Given the description of an element on the screen output the (x, y) to click on. 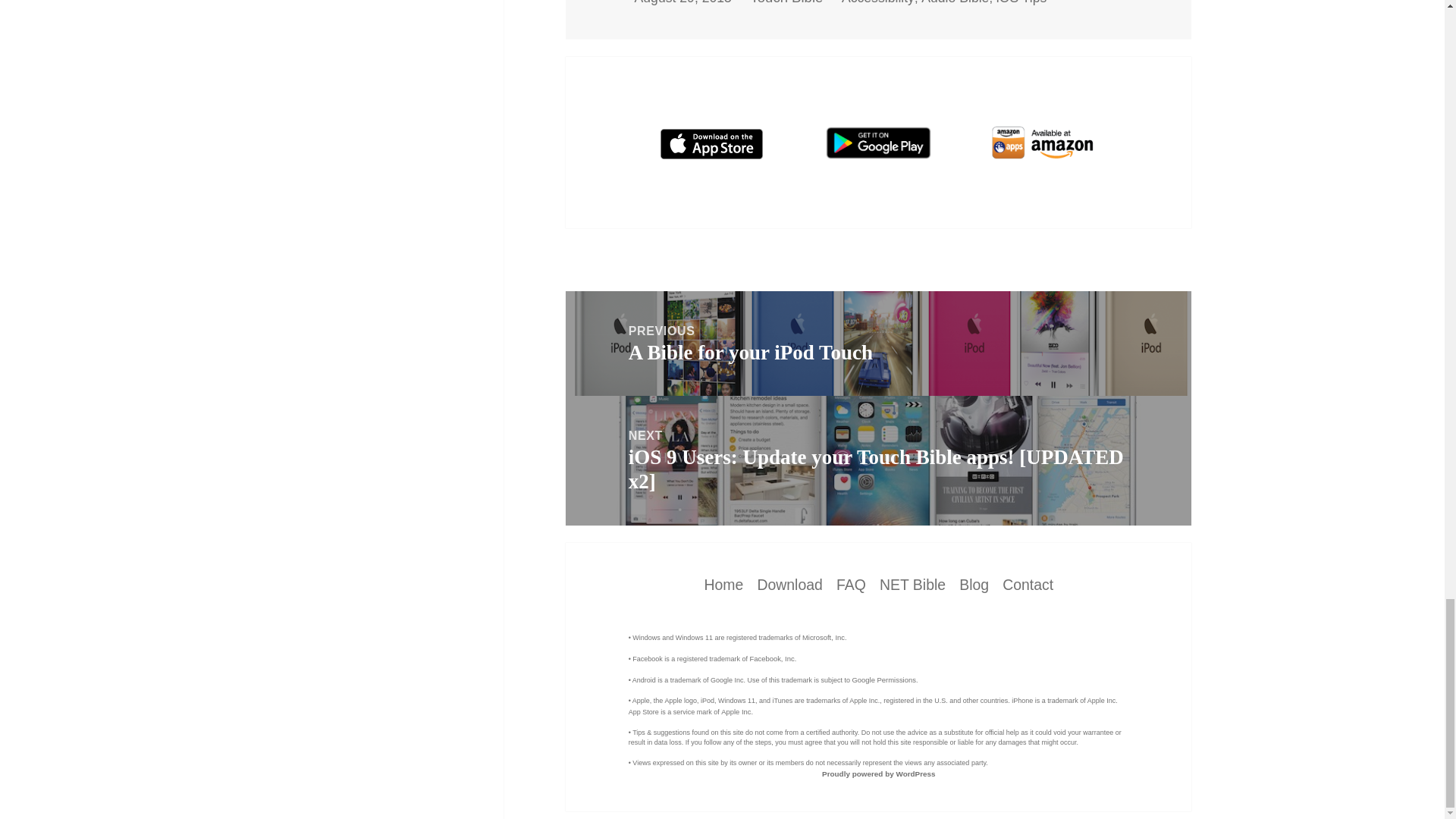
Audio Bible (954, 2)
Accessibility (877, 2)
August 29, 2015 (683, 2)
Touch Bible (787, 2)
